Given the description of an element on the screen output the (x, y) to click on. 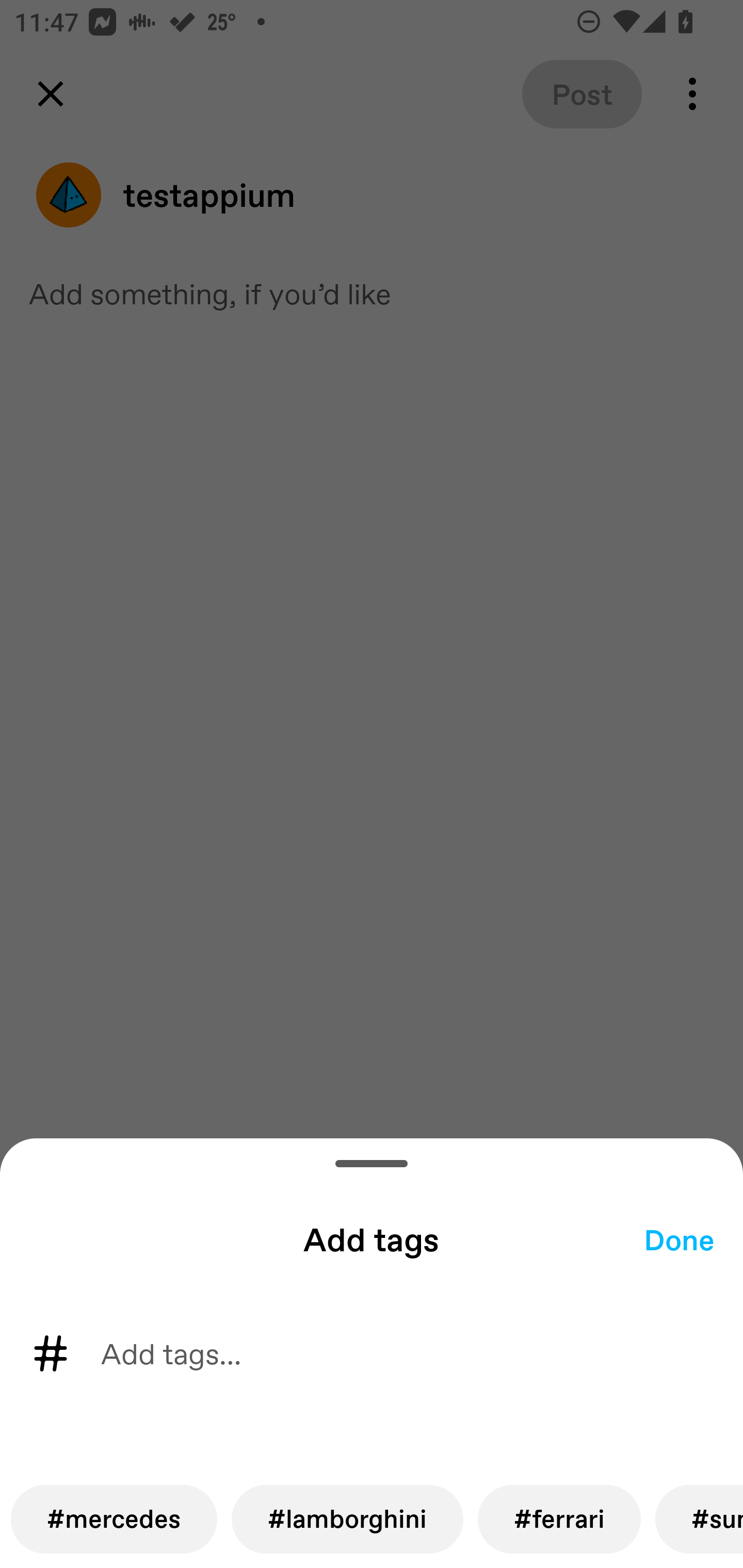
Done (679, 1239)
Add tags… (185, 1352)
#mercedes (113, 1518)
#lamborghini (347, 1518)
#ferrari (558, 1518)
